Given the description of an element on the screen output the (x, y) to click on. 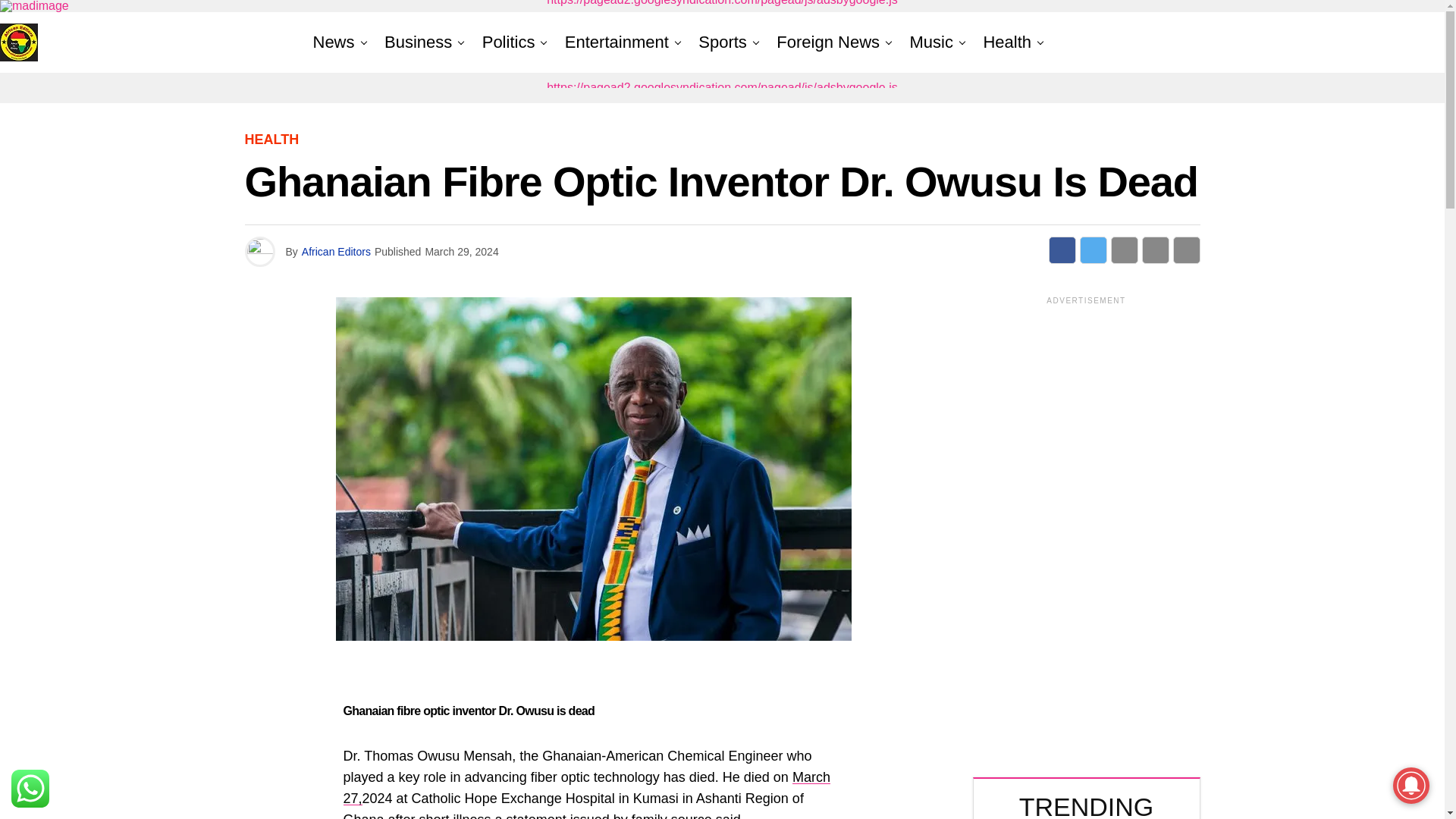
Sports (722, 42)
Tweet This Post (1093, 249)
Share on Facebook (1061, 249)
Posts by African Editors (336, 251)
Business (418, 42)
Entertainment (617, 42)
News (337, 42)
Politics (508, 42)
